Given the description of an element on the screen output the (x, y) to click on. 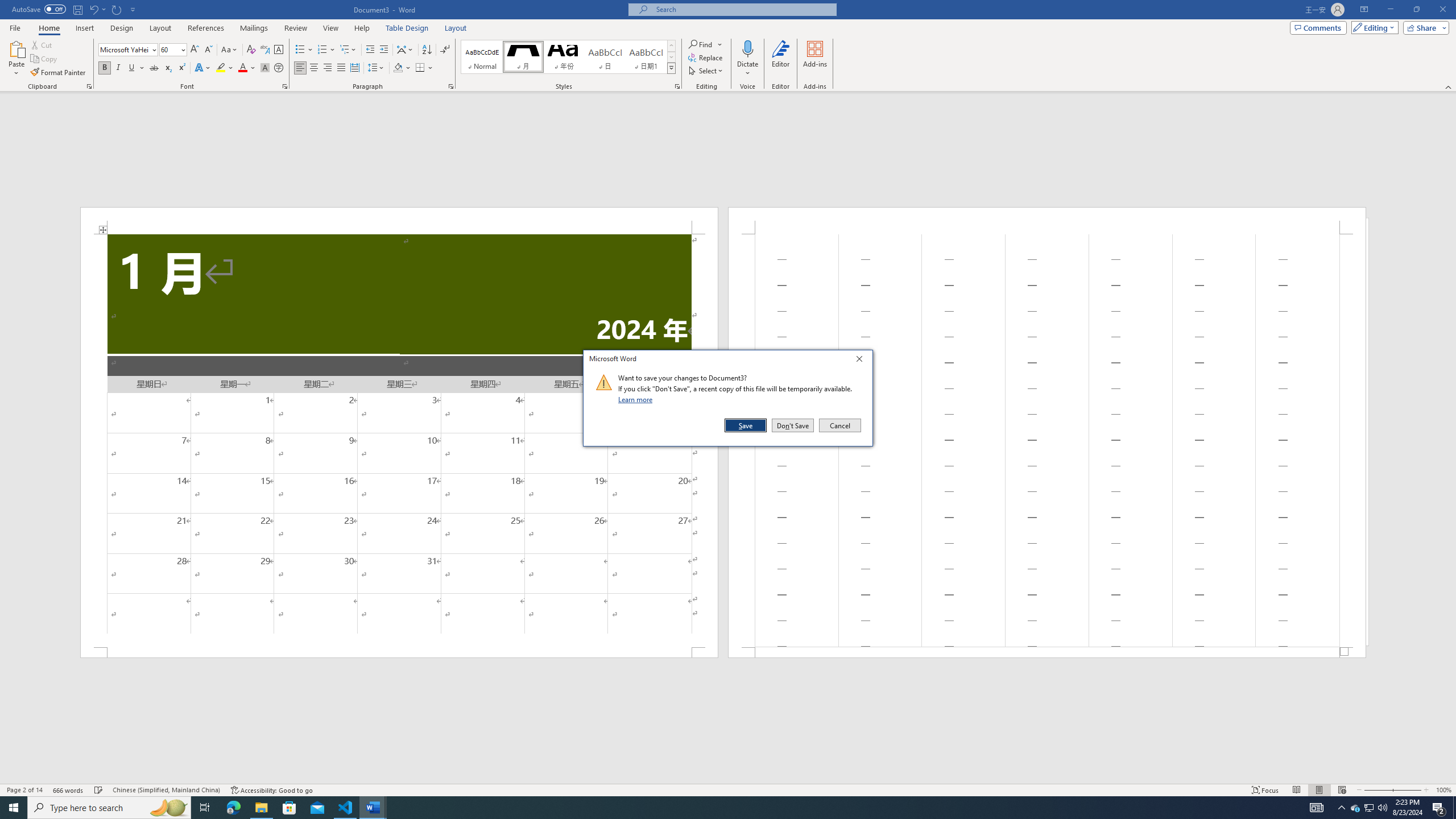
Print Layout (1318, 790)
Learn more (636, 399)
Cancel (839, 425)
Zoom In (1407, 790)
Header -Section 1- (1046, 220)
Font (124, 49)
Select (705, 69)
Page Number Page 2 of 14 (24, 790)
Show desktop (1454, 807)
Clear Formatting (250, 49)
Word - 2 running windows (373, 807)
Insert (83, 28)
Word Count 666 words (68, 790)
Class: NetUIImage (603, 382)
